Given the description of an element on the screen output the (x, y) to click on. 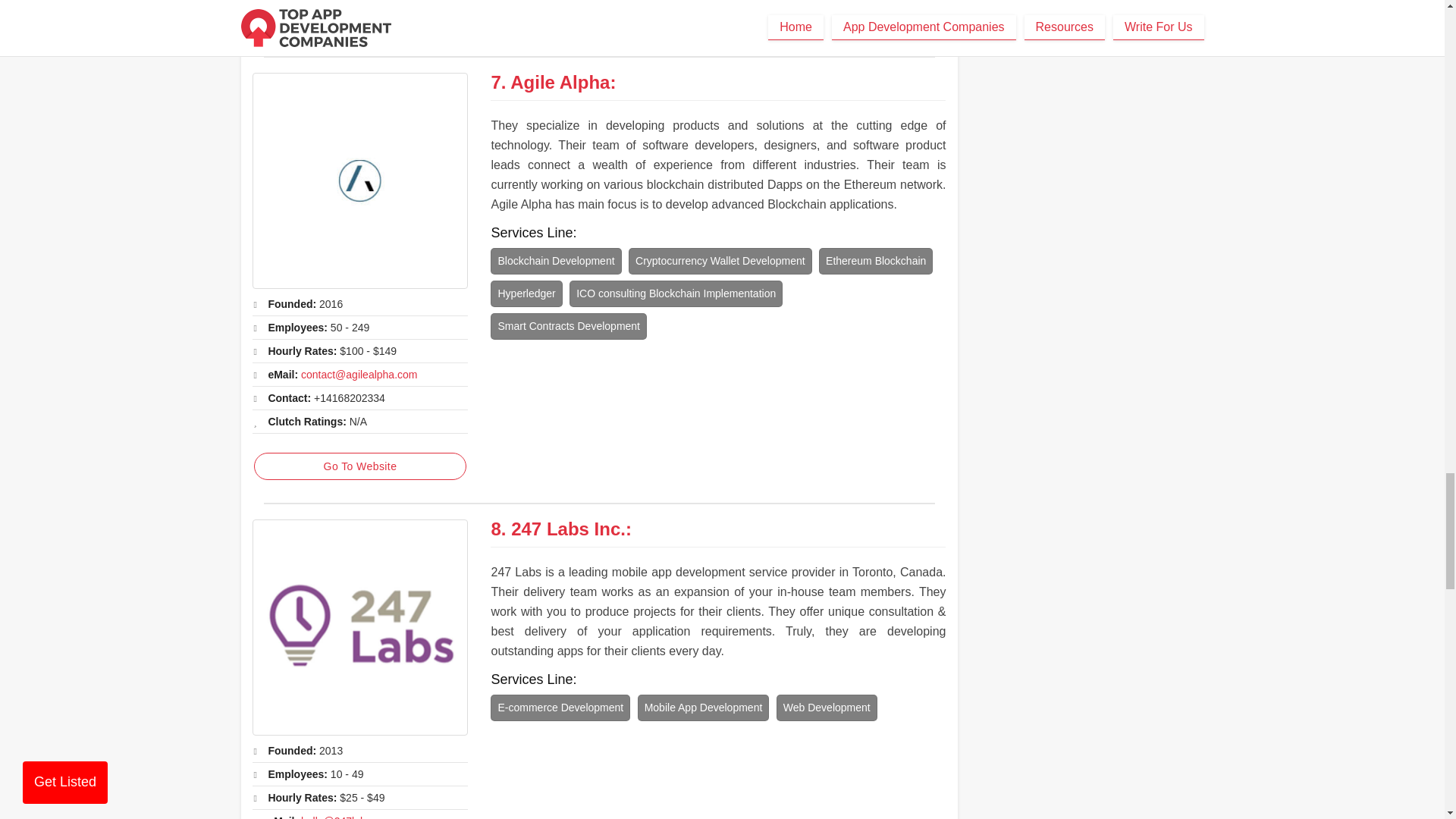
247 Labs Inc. (359, 627)
Go To Website (359, 19)
Agile Alpha (359, 180)
Agile Alpha (560, 82)
Go To Website (359, 465)
